Given the description of an element on the screen output the (x, y) to click on. 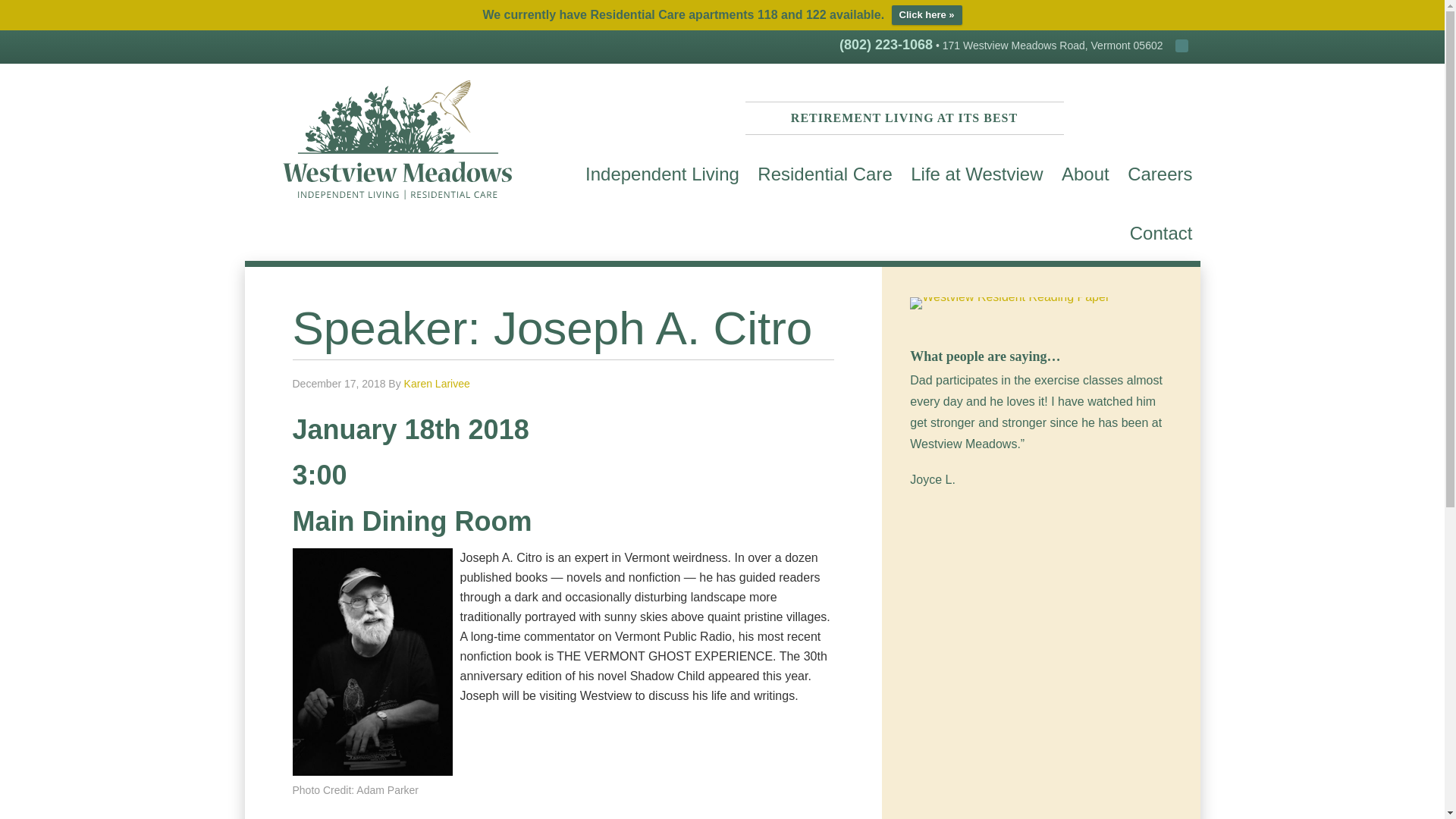
Independent Living (662, 171)
Life at Westview (975, 171)
Westview Meadows (396, 207)
Residential Care (824, 171)
Contact (1160, 231)
Careers (1159, 171)
About (1085, 171)
Westview Meadows (396, 139)
